Given the description of an element on the screen output the (x, y) to click on. 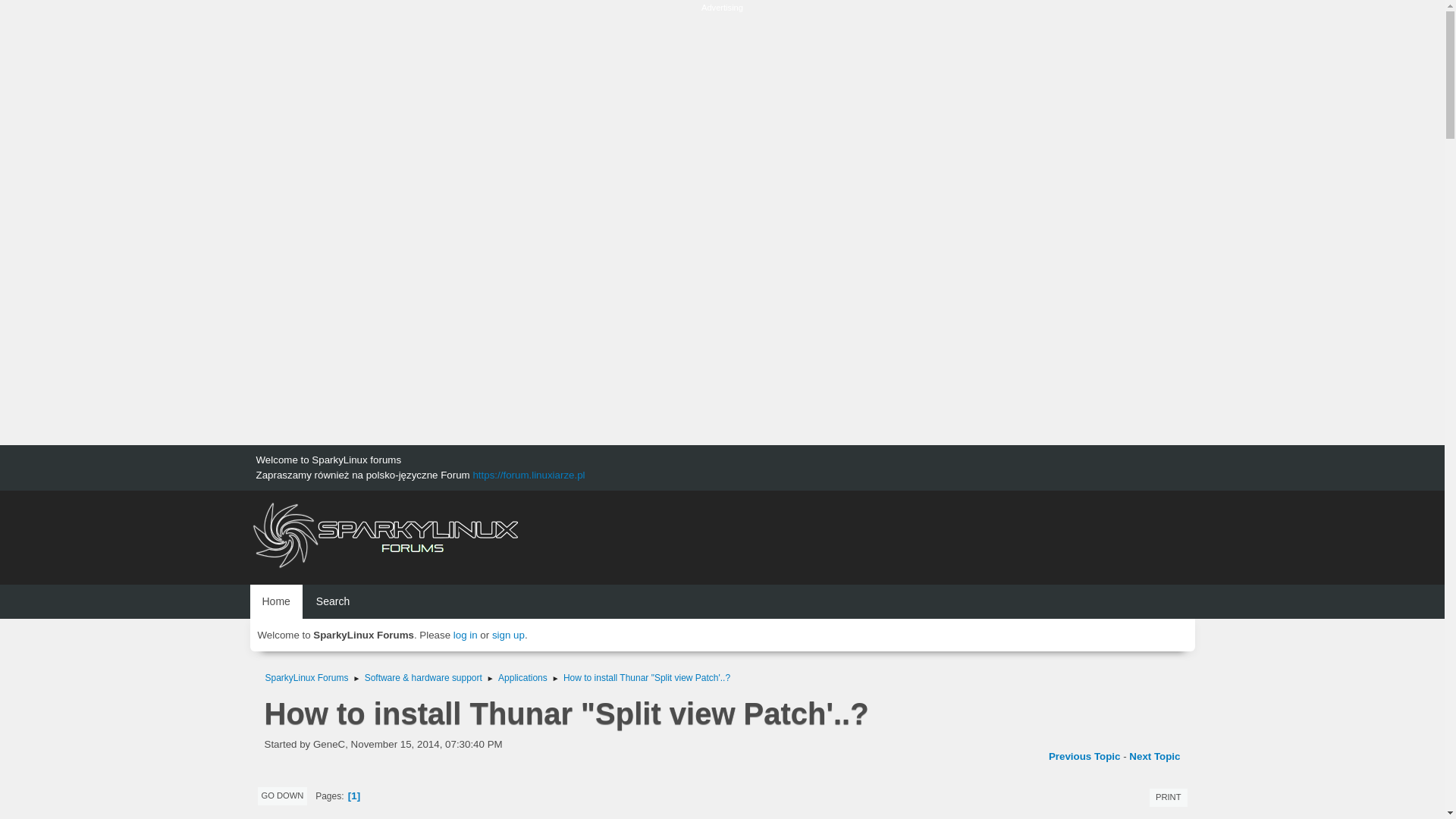
SparkyLinux Forums (306, 675)
Previous Topic (1084, 756)
PRINT (1169, 797)
Home (276, 601)
Search (332, 601)
GO DOWN (282, 796)
log in (464, 634)
Next Topic (1154, 756)
How to install Thunar "Split view Patch'..? (646, 675)
Applications (522, 675)
sign up (508, 634)
